Given the description of an element on the screen output the (x, y) to click on. 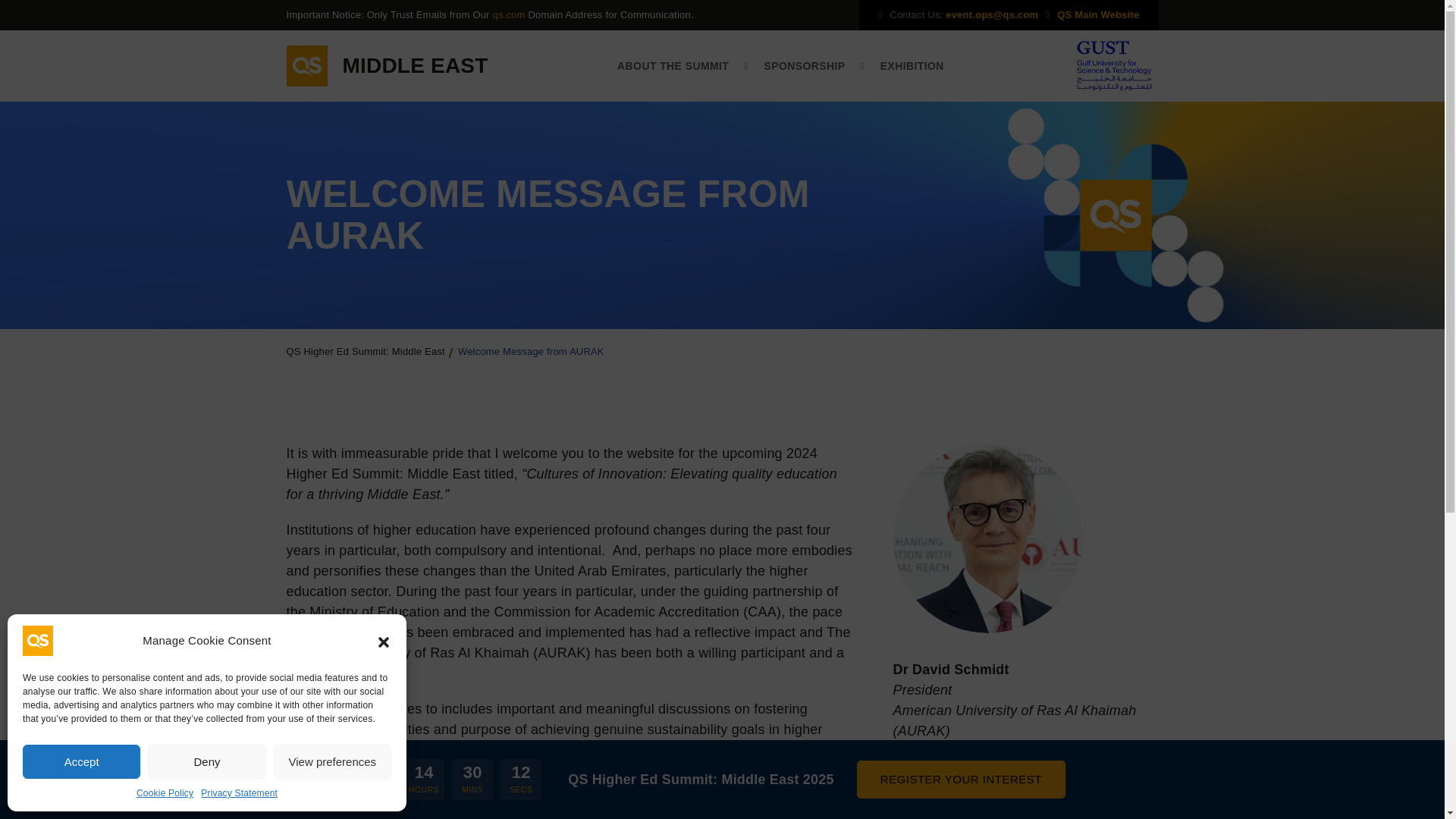
Deny (206, 761)
Dr. David Schmidt-- (988, 538)
EXHIBITION (911, 65)
Privacy Statement (239, 793)
SPONSORSHIP (812, 65)
Accept (81, 761)
ABOUT THE SUMMIT (682, 65)
QS Higher Ed Summit: Middle East (370, 351)
Go to QS Higher Ed Summit: Middle East. (370, 351)
View preferences (332, 761)
QS Main Website (1097, 14)
Cookie Policy (164, 793)
